Given the description of an element on the screen output the (x, y) to click on. 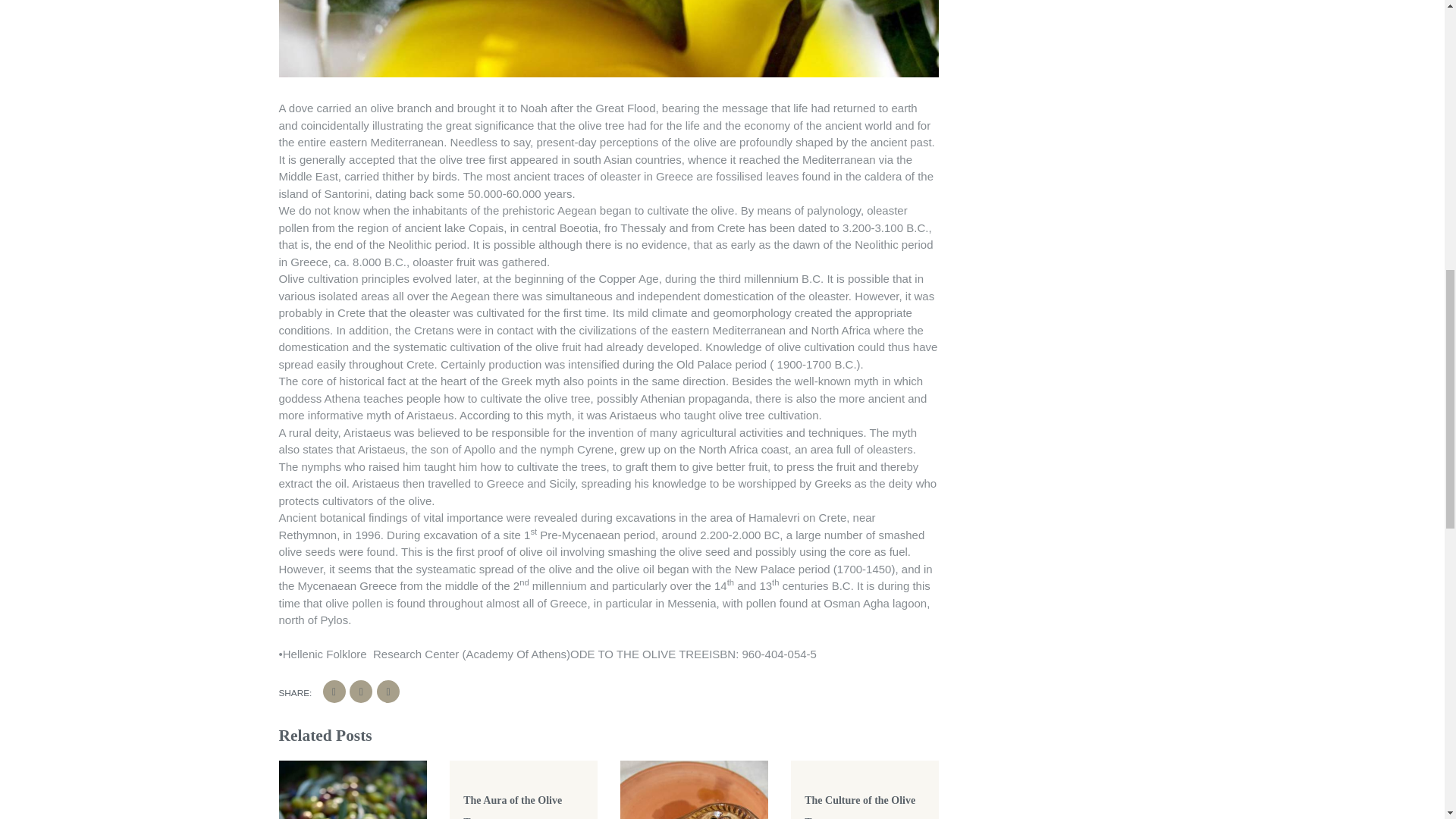
The Culture of the Olive Tree (860, 806)
Olive Oil and the Ancient Greeks (609, 38)
The Aura of the Olive Tree (512, 806)
